Given the description of an element on the screen output the (x, y) to click on. 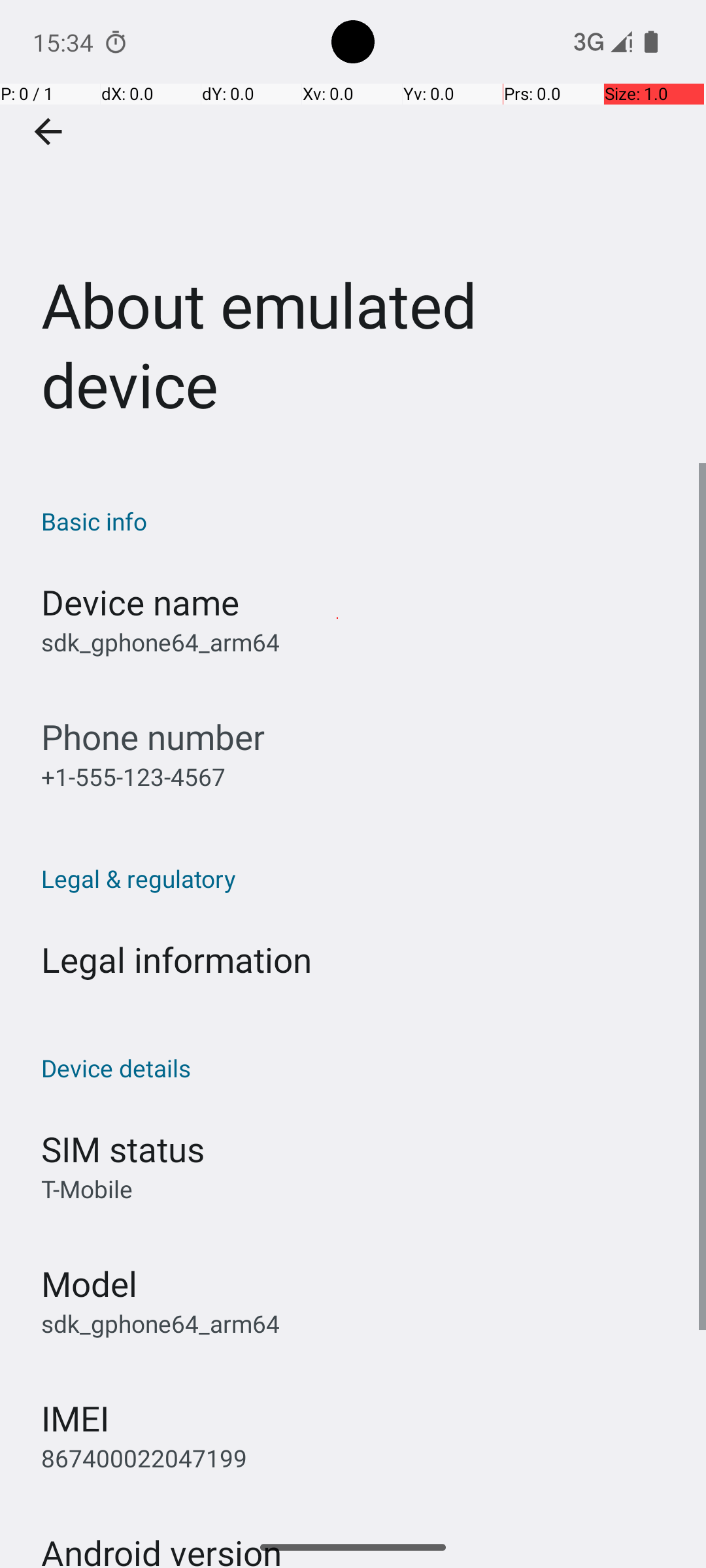
About emulated device Element type: android.widget.FrameLayout (353, 231)
Basic info Element type: android.widget.TextView (359, 520)
+1-555-123-4567 Element type: android.widget.TextView (133, 776)
Legal & regulatory Element type: android.widget.TextView (359, 878)
Legal information Element type: android.widget.TextView (176, 959)
Device details Element type: android.widget.TextView (359, 1067)
SIM status Element type: android.widget.TextView (122, 1148)
Model Element type: android.widget.TextView (89, 1283)
IMEI Element type: android.widget.TextView (75, 1417)
867400022047199 Element type: android.widget.TextView (144, 1457)
